Given the description of an element on the screen output the (x, y) to click on. 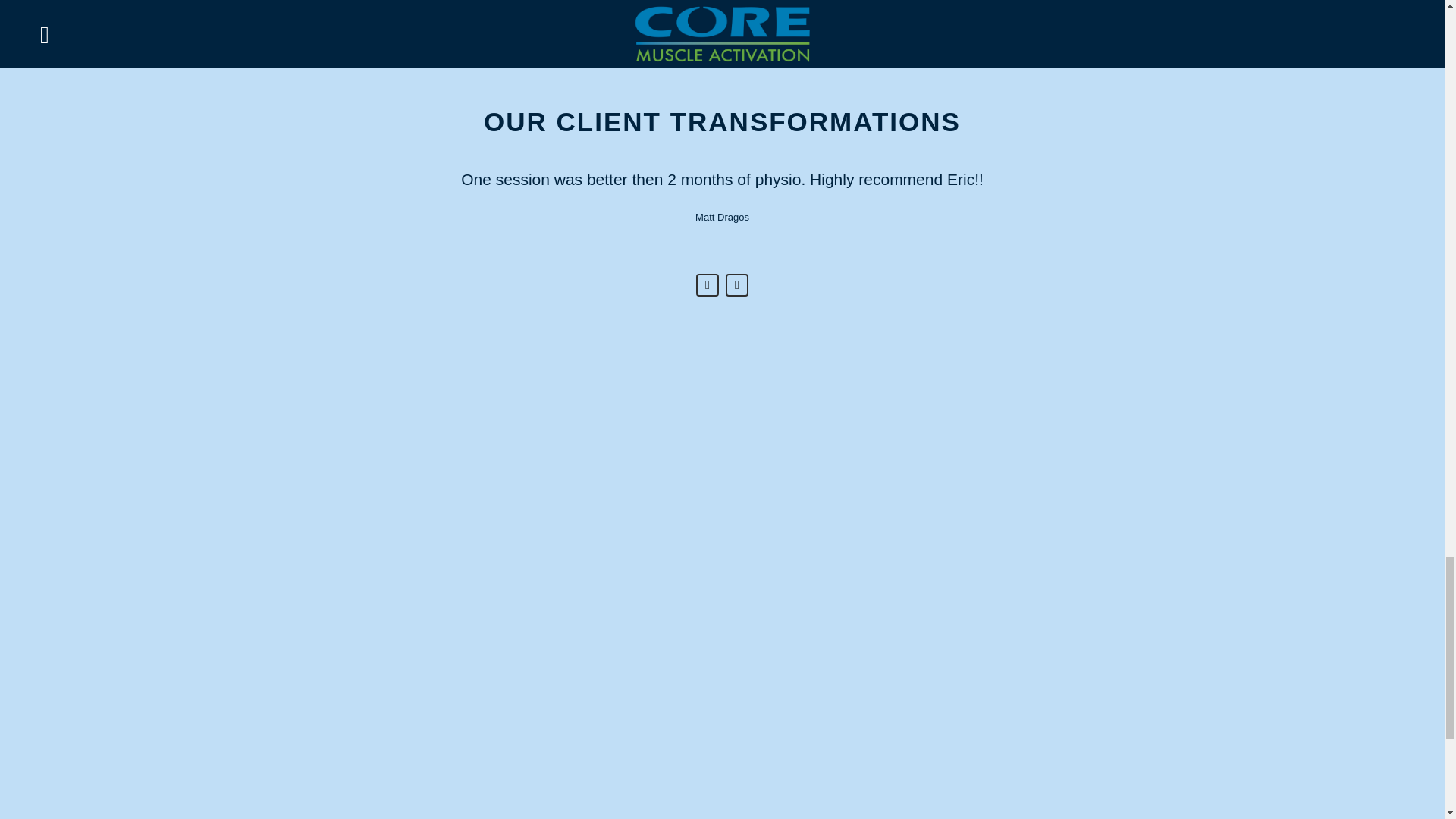
Previous (707, 284)
Next (736, 284)
